Given the description of an element on the screen output the (x, y) to click on. 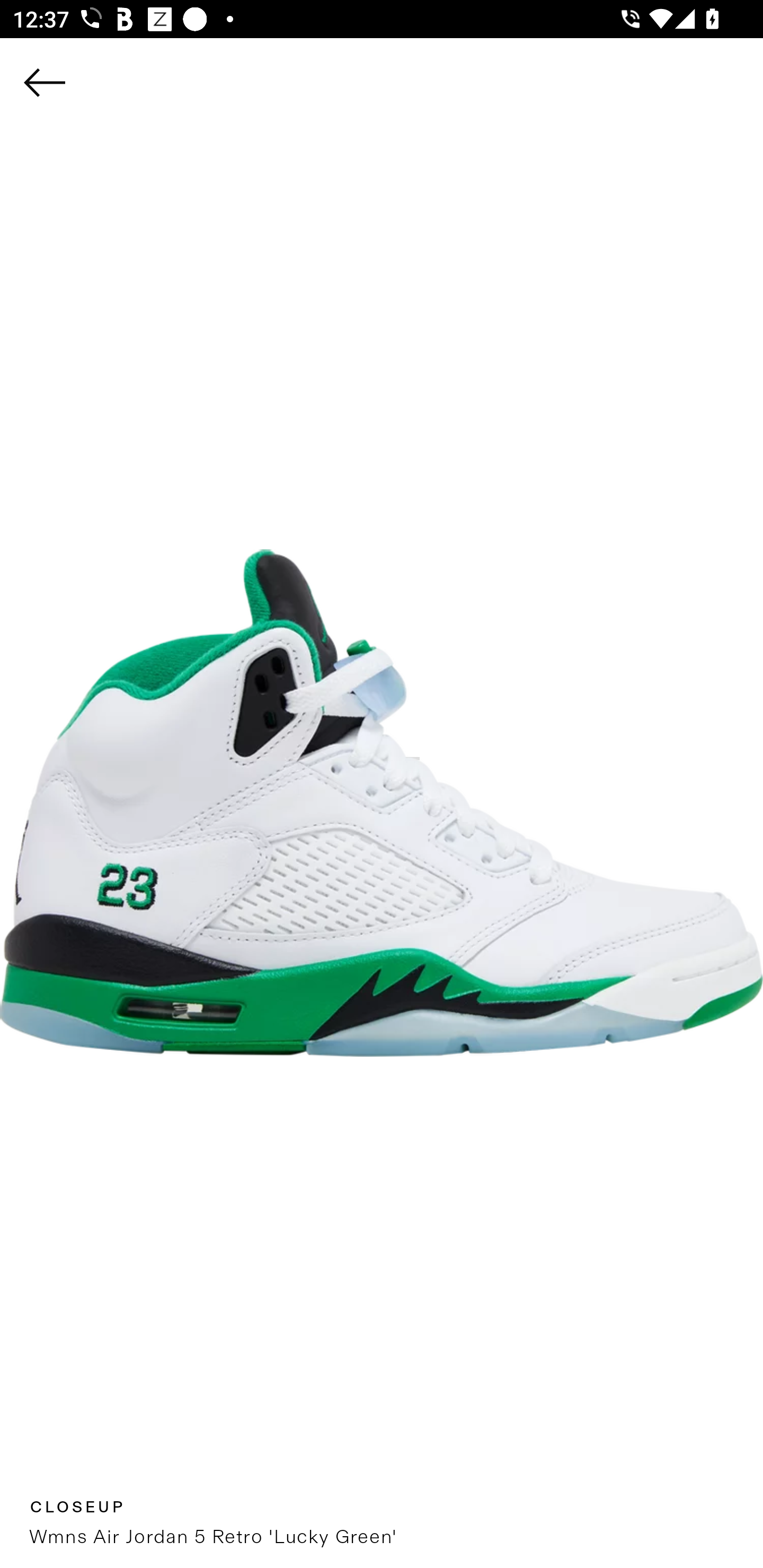
Navigate up (44, 82)
